Given the description of an element on the screen output the (x, y) to click on. 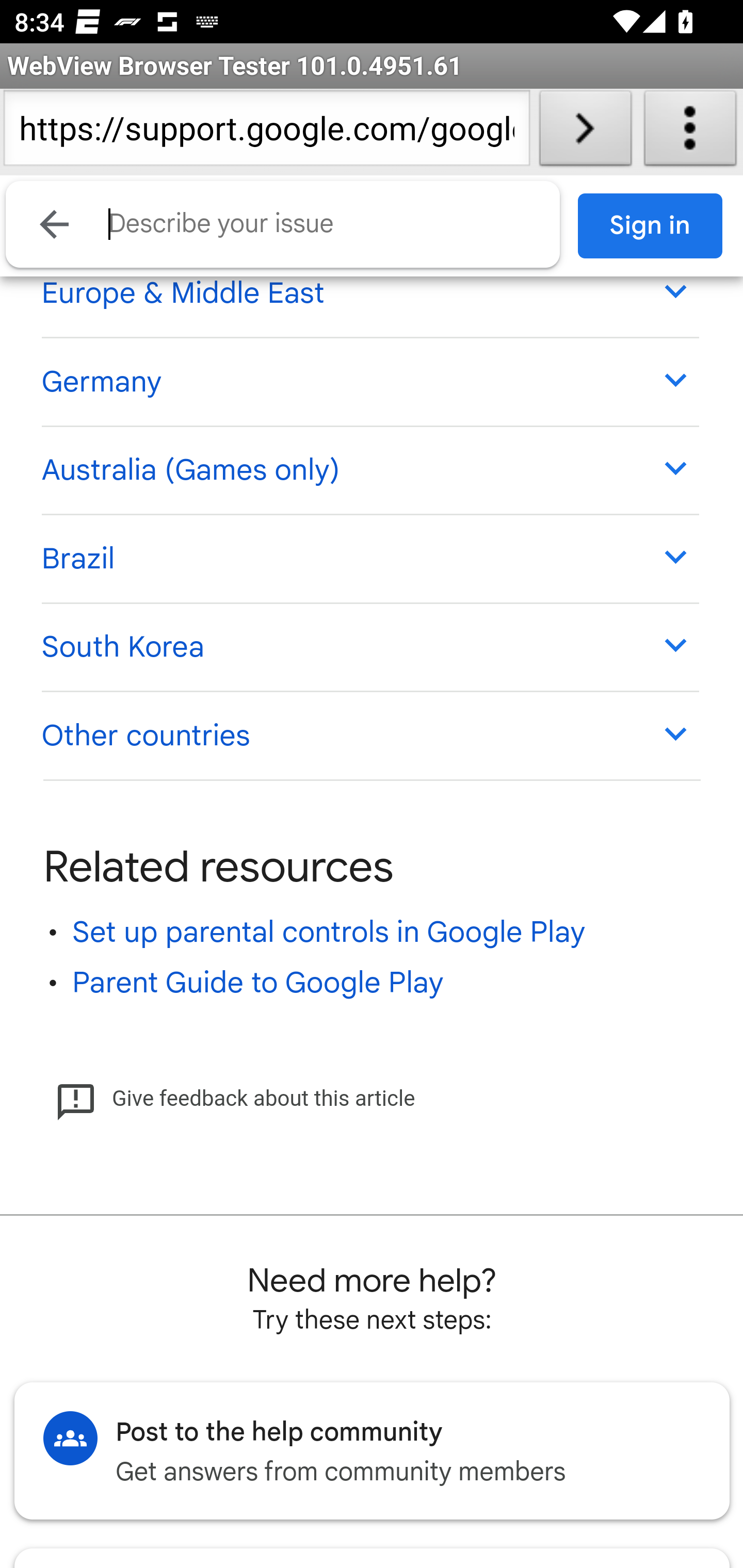
Load URL (585, 132)
About WebView (690, 132)
Close search (54, 223)
Sign in (650, 226)
Europe & Middle East (369, 292)
Germany (369, 382)
Australia (Games only) (369, 469)
Brazil (369, 559)
South Korea (369, 646)
Other countries (369, 736)
Set up parental controls in Google Play (329, 933)
Parent Guide to Google Play (258, 983)
Give feedback about this article (235, 1099)
